Given the description of an element on the screen output the (x, y) to click on. 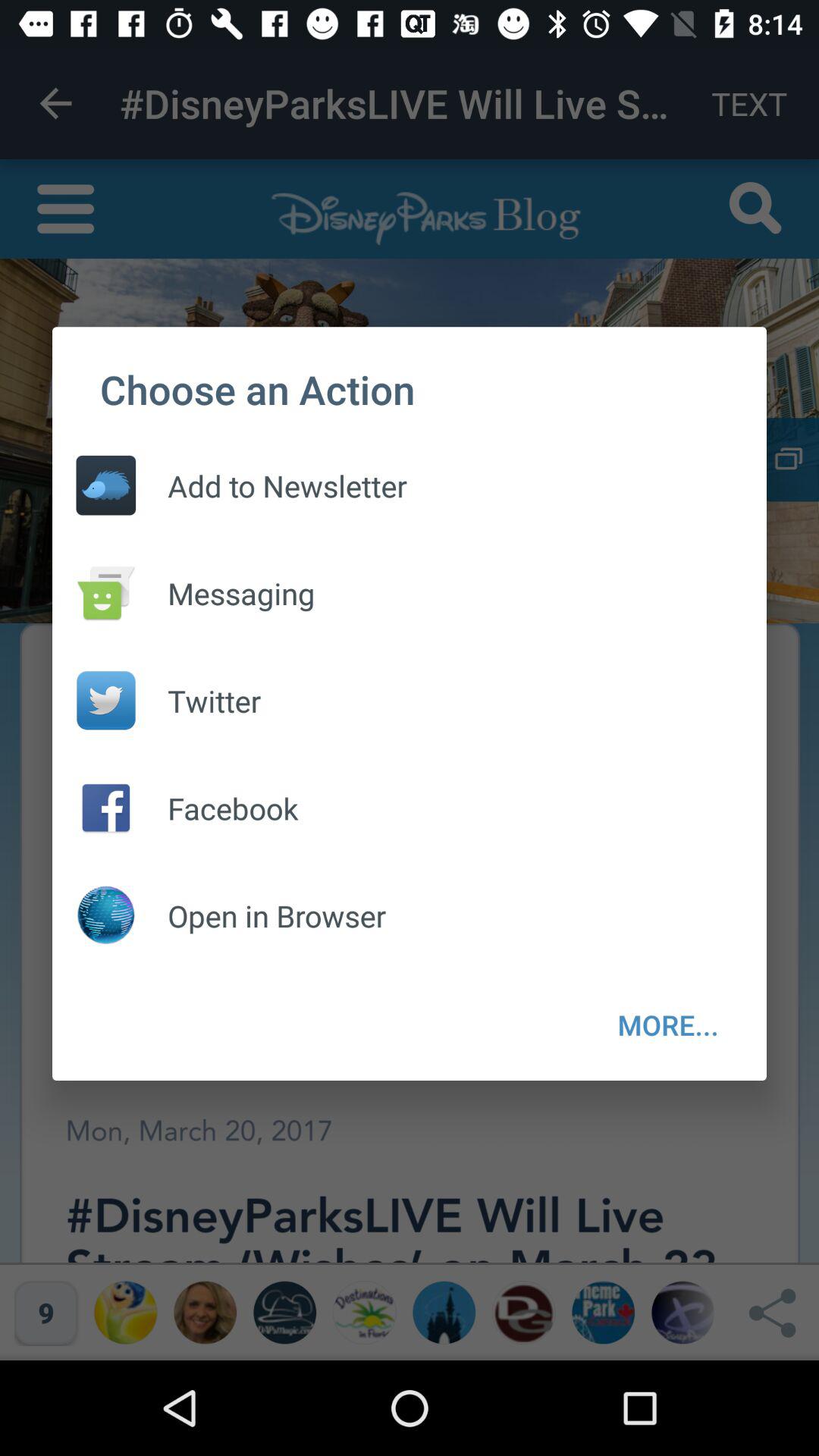
turn off facebook item (216, 808)
